Given the description of an element on the screen output the (x, y) to click on. 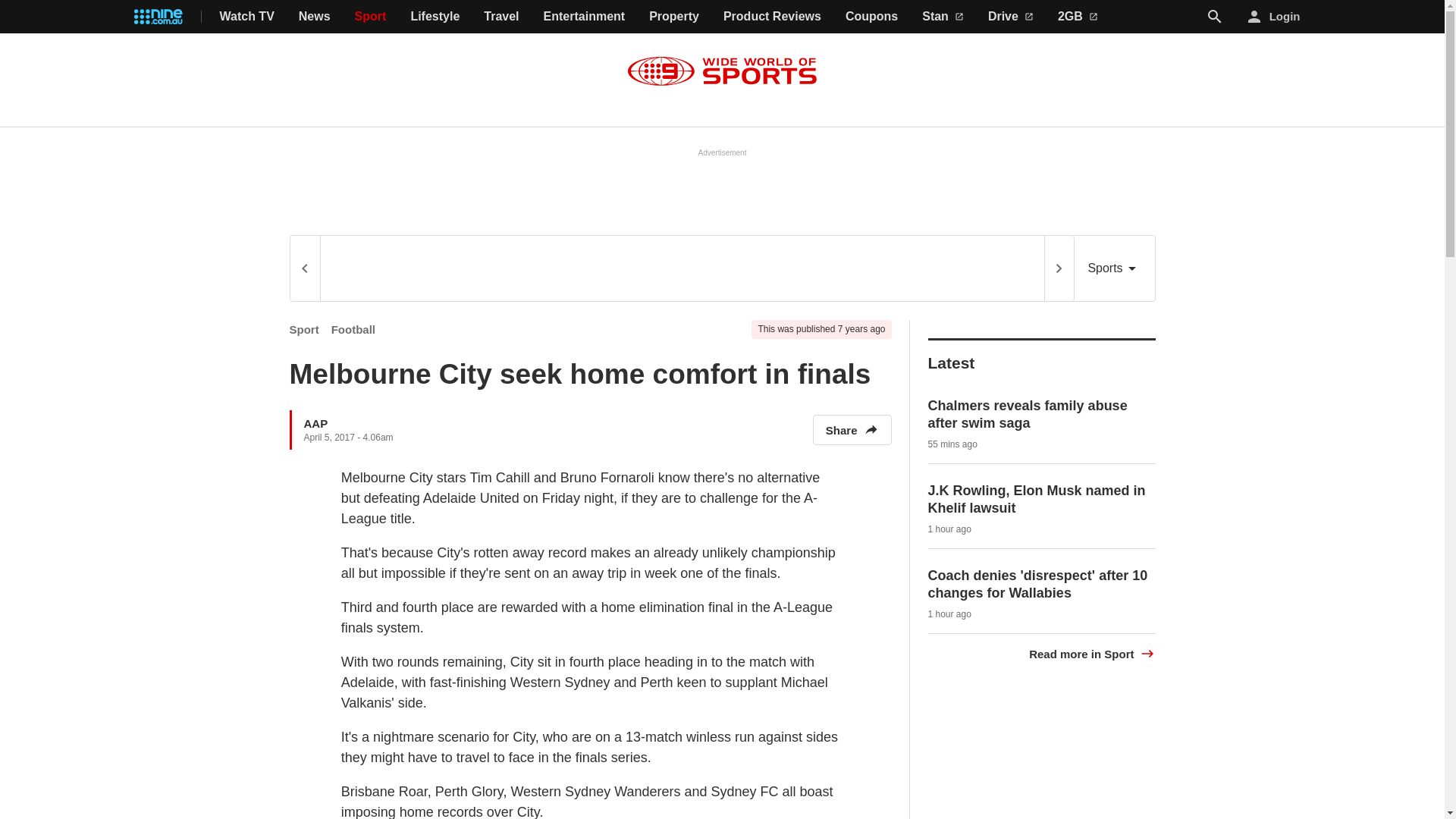
Watch TV (247, 16)
Coupons (871, 16)
Product Reviews (772, 16)
Chalmers reveals family abuse after swim saga (1027, 414)
Coach denies 'disrespect' after 10 changes for Wallabies (1038, 584)
Read more in Sport (1091, 653)
J.K Rowling, Elon Musk named in Khelif lawsuit (1036, 499)
Sport (303, 328)
Login (1273, 16)
News (314, 16)
